Given the description of an element on the screen output the (x, y) to click on. 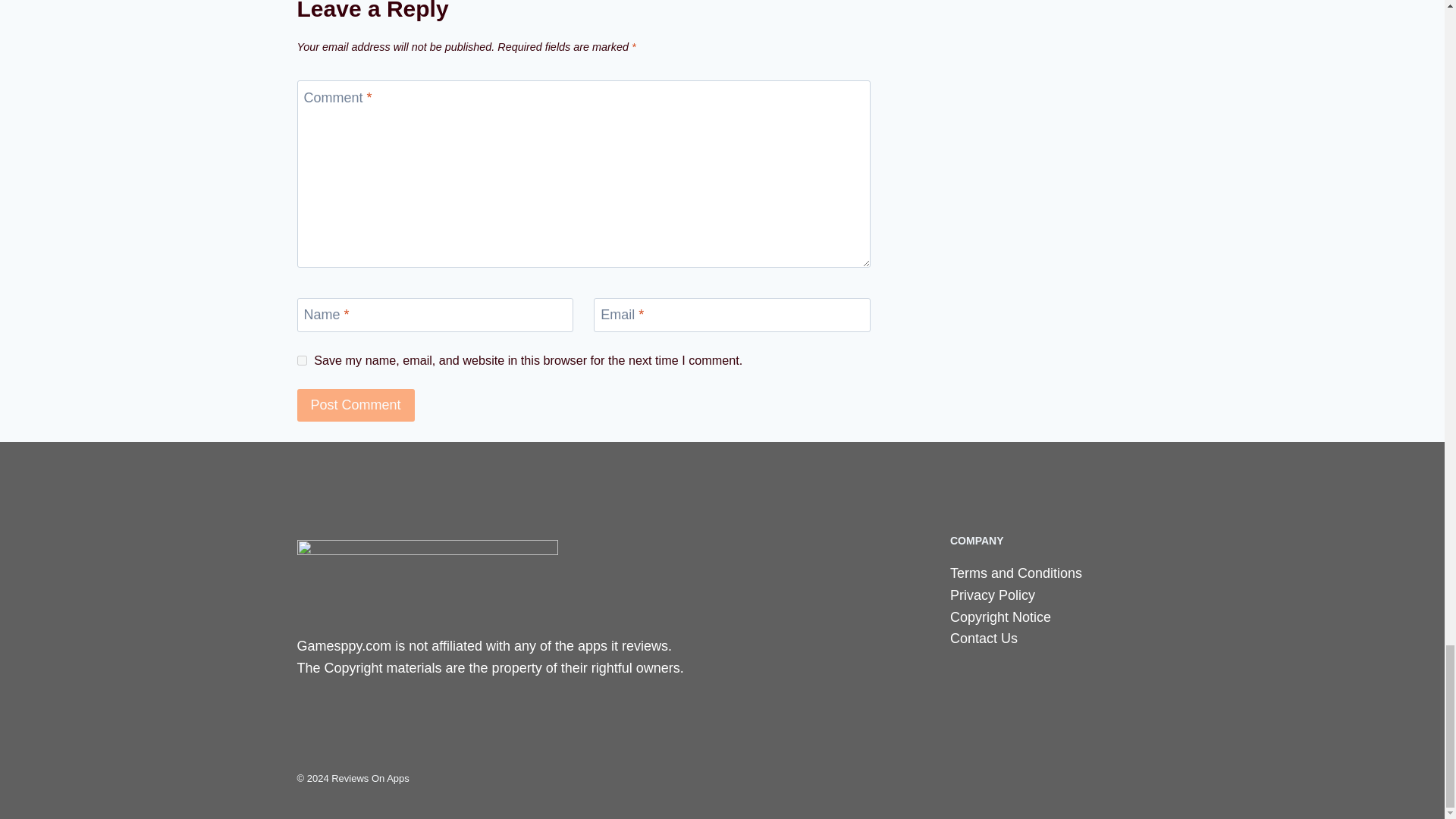
yes (302, 360)
Post Comment (355, 405)
